Given the description of an element on the screen output the (x, y) to click on. 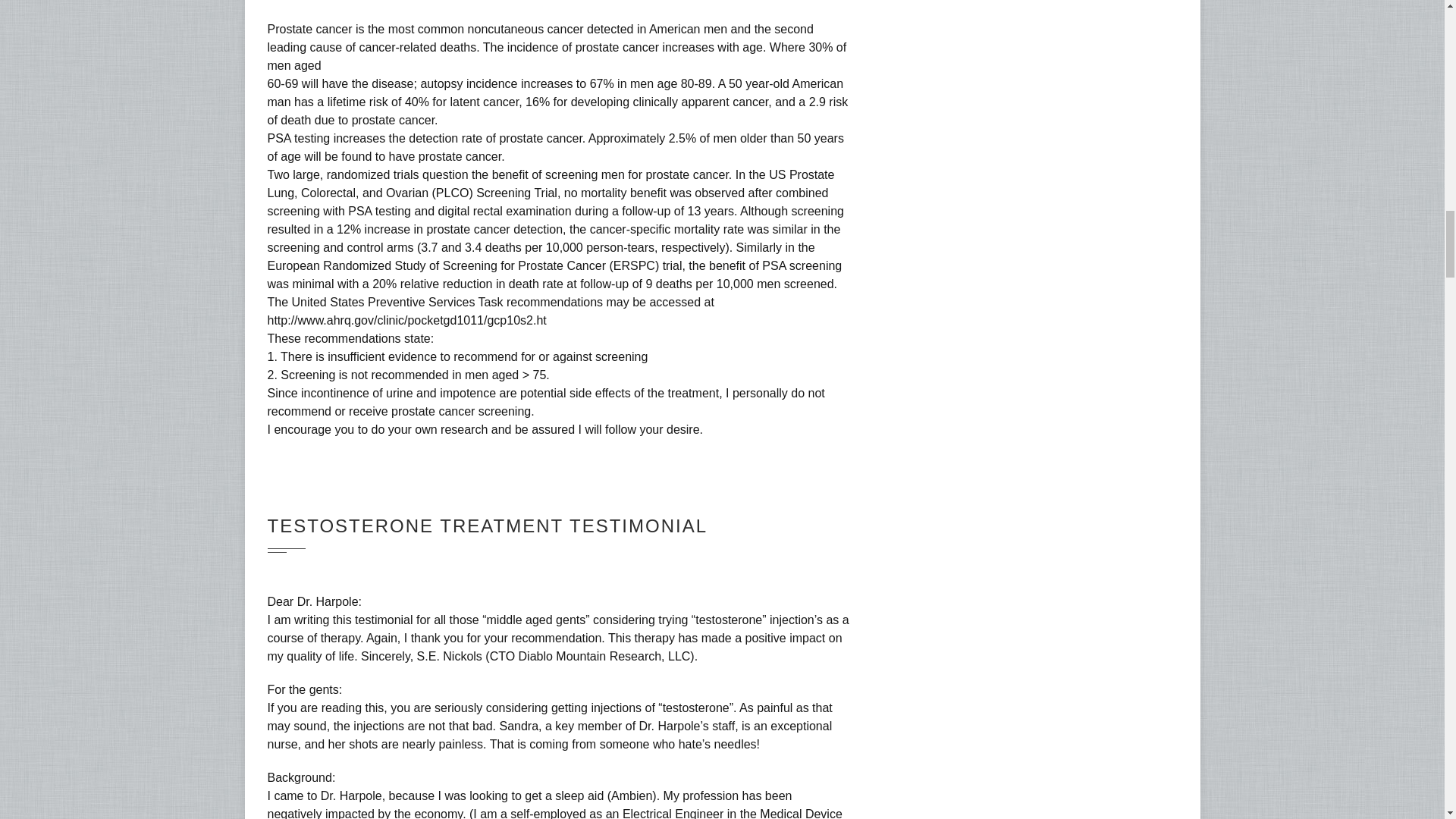
TESTOSTERONE TREATMENT TESTIMONIAL (486, 525)
